Given the description of an element on the screen output the (x, y) to click on. 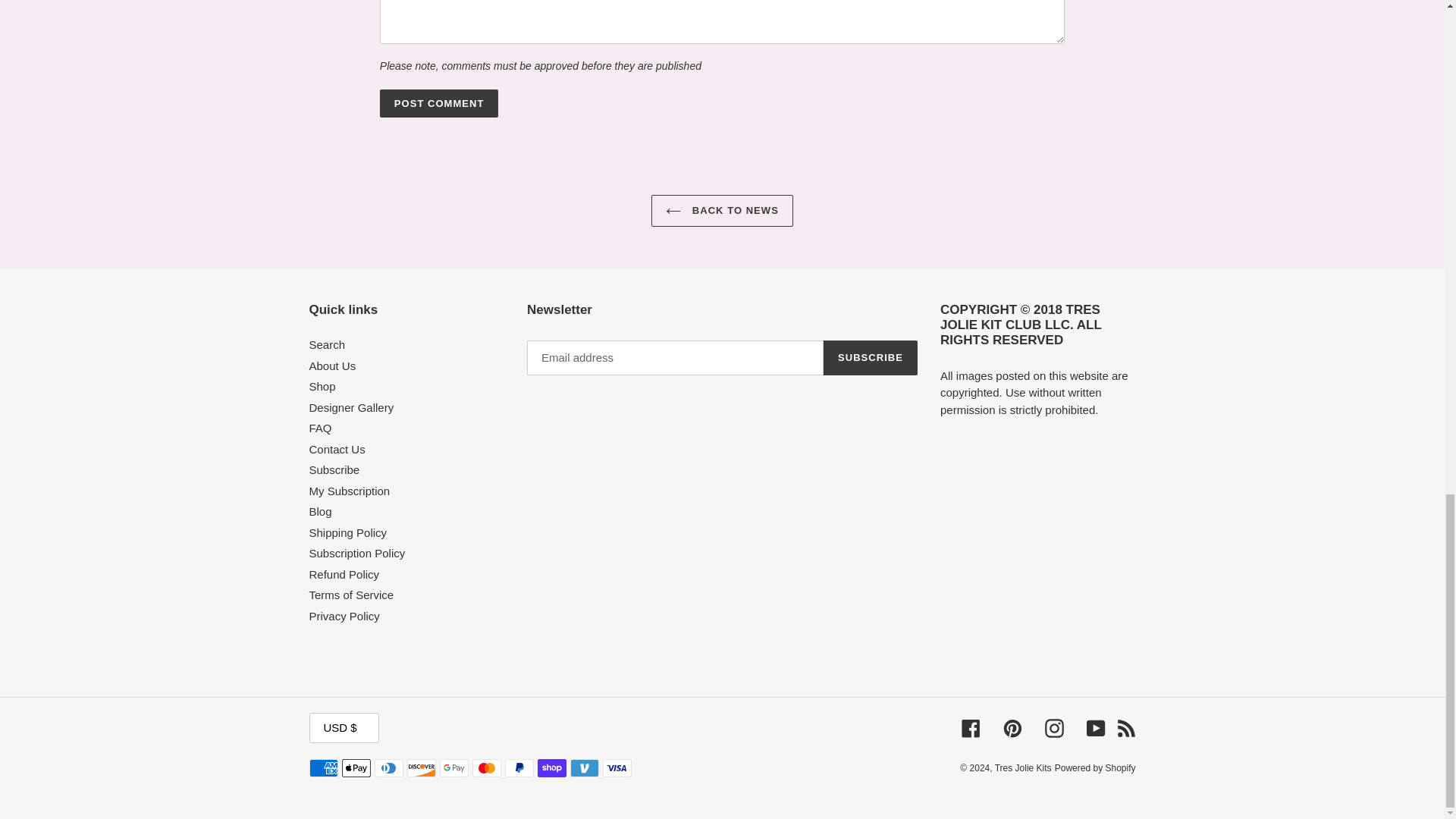
Post comment (439, 103)
